Given the description of an element on the screen output the (x, y) to click on. 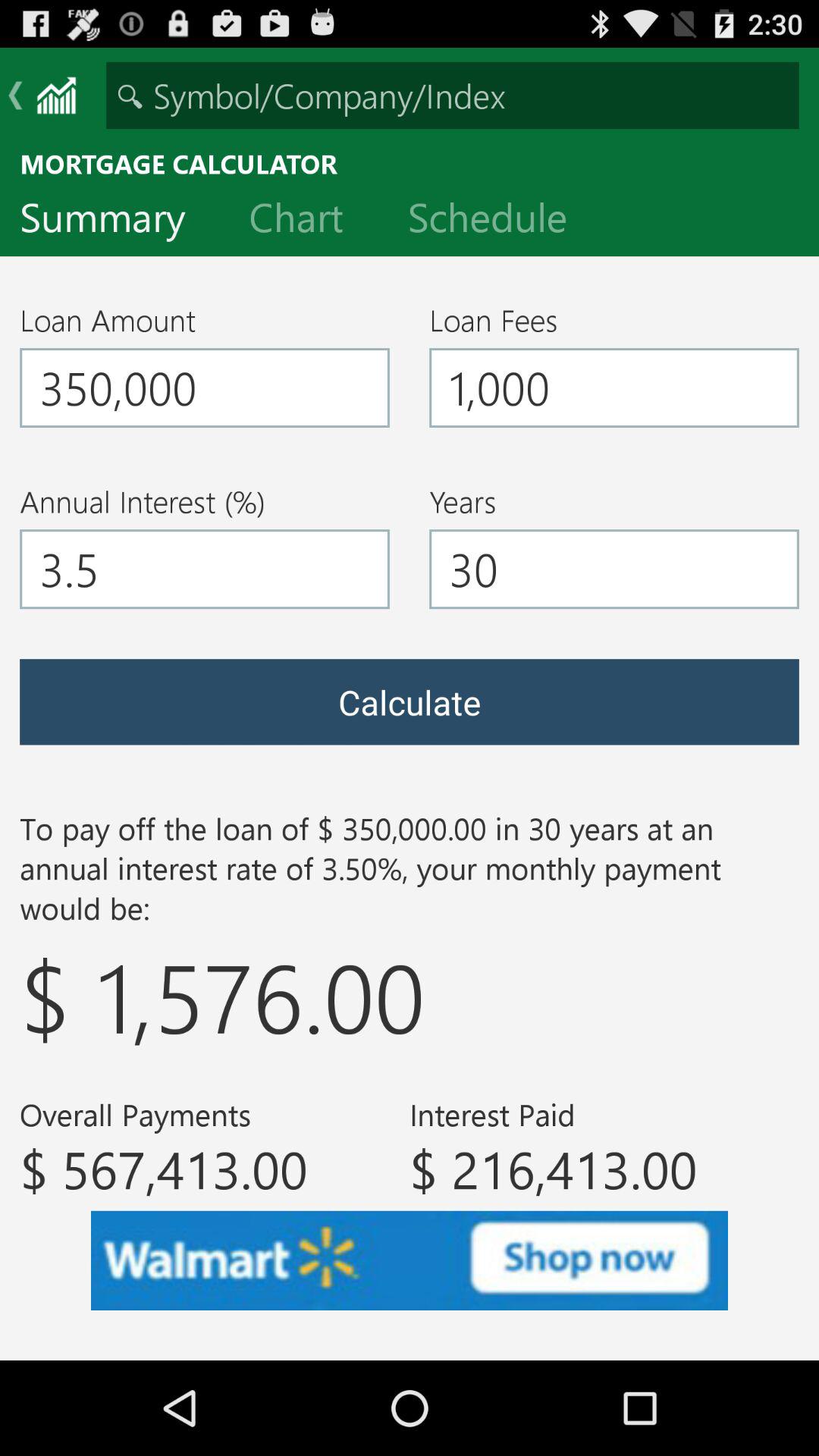
tap item to the left of schedule item (308, 220)
